Given the description of an element on the screen output the (x, y) to click on. 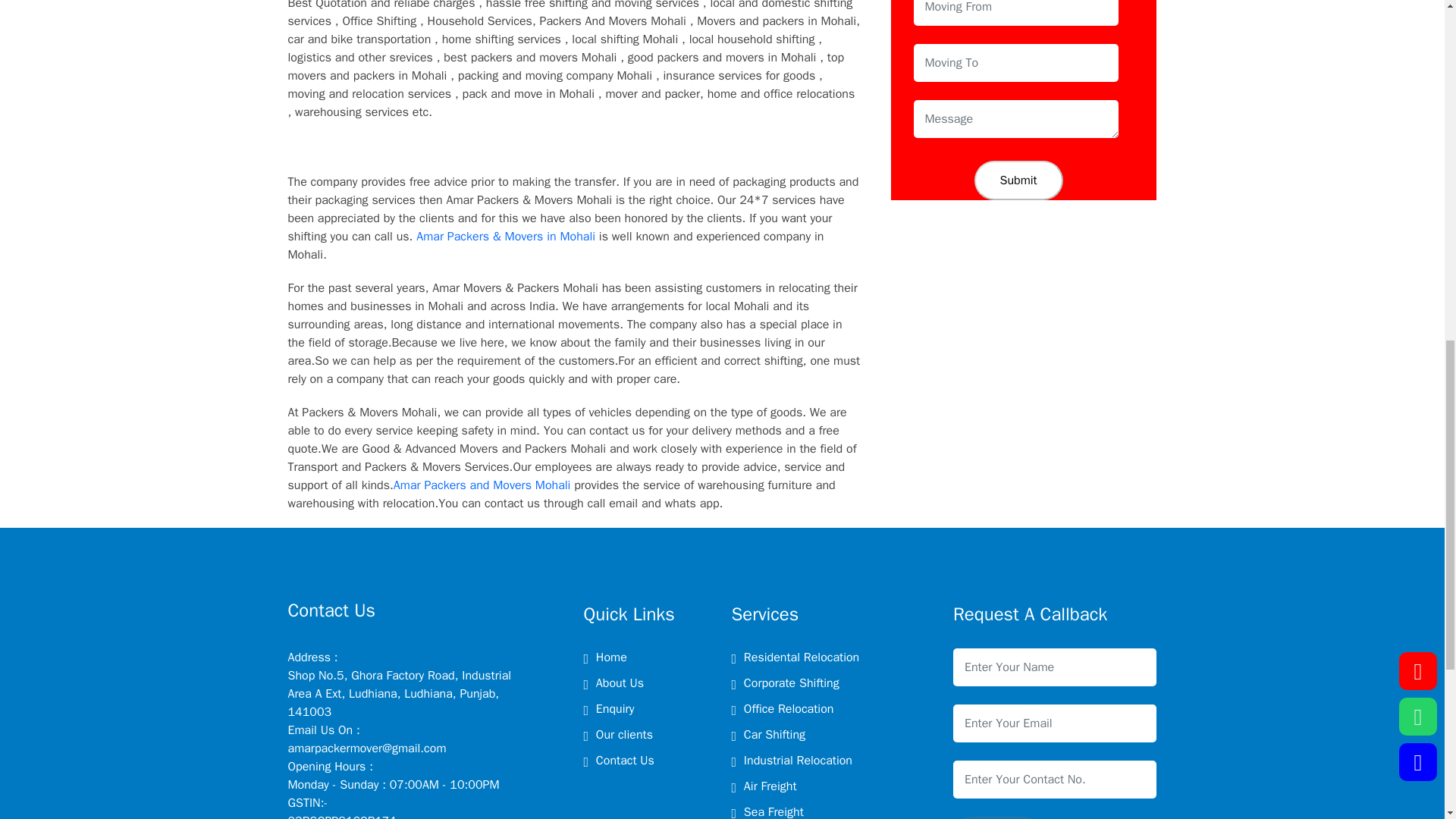
Amar Packers and Movers Mohali (481, 484)
